Given the description of an element on the screen output the (x, y) to click on. 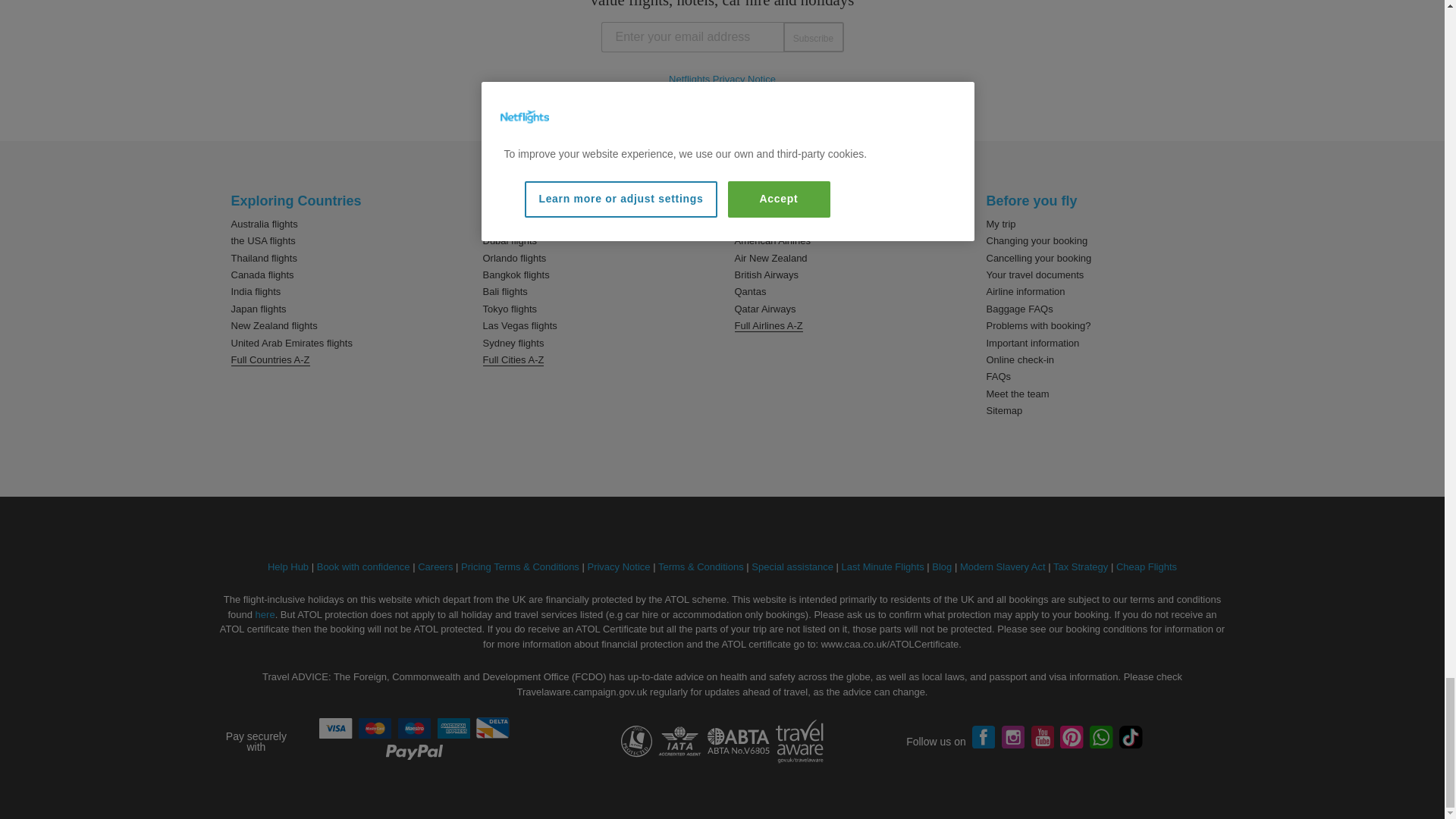
cheap flights (1146, 566)
Dnata Careers (434, 566)
Help Hub (287, 566)
